Given the description of an element on the screen output the (x, y) to click on. 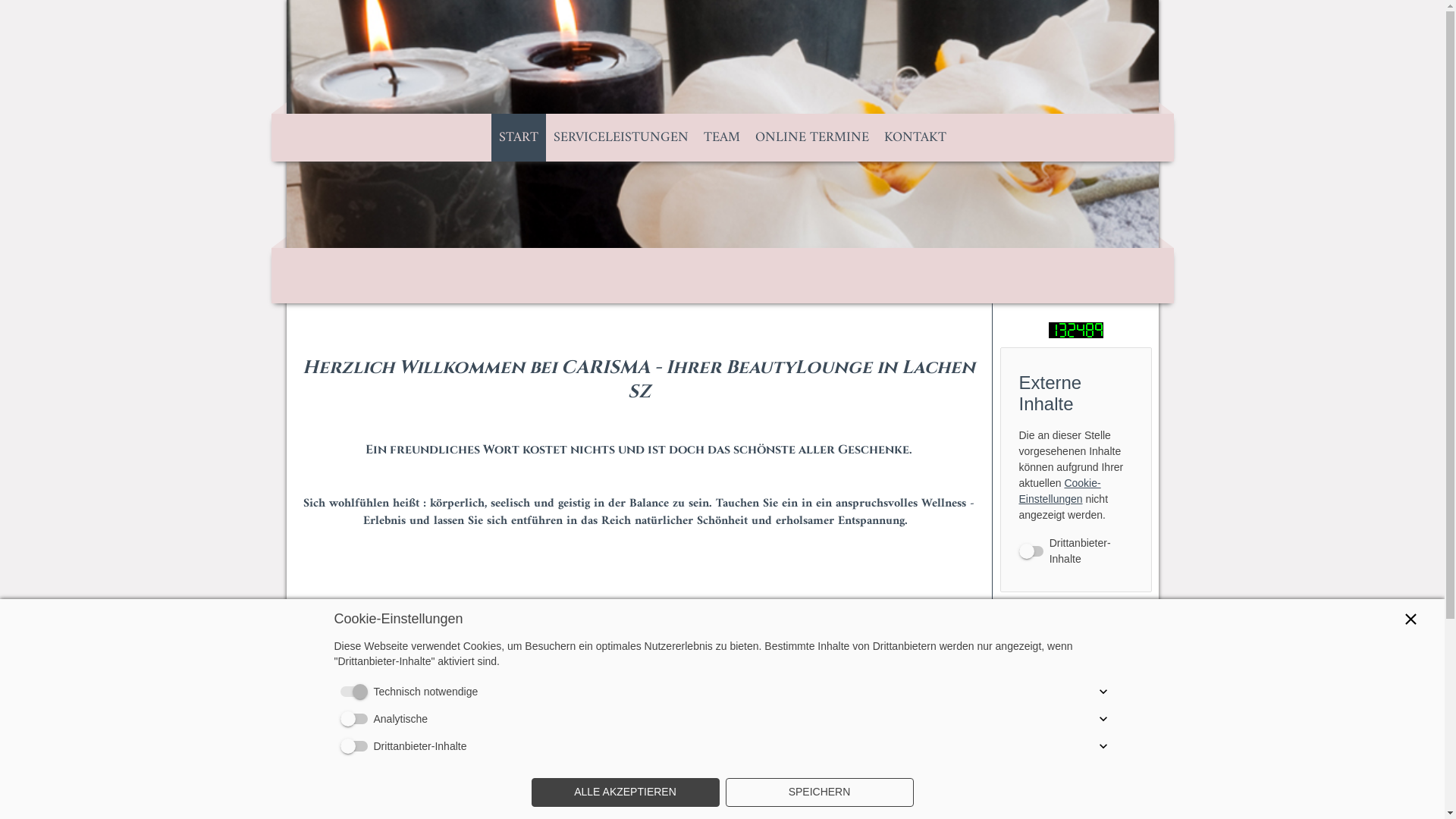
KONTAKT Element type: text (914, 137)
SPEICHERN Element type: text (818, 792)
ALLE AKZEPTIEREN Element type: text (624, 792)
SERVICELEISTUNGEN Element type: text (621, 137)
Cookie-Einstellungen Element type: text (1060, 490)
ONLINE TERMINE Element type: text (811, 137)
TEAM Element type: text (721, 137)
START Element type: text (518, 137)
